Given the description of an element on the screen output the (x, y) to click on. 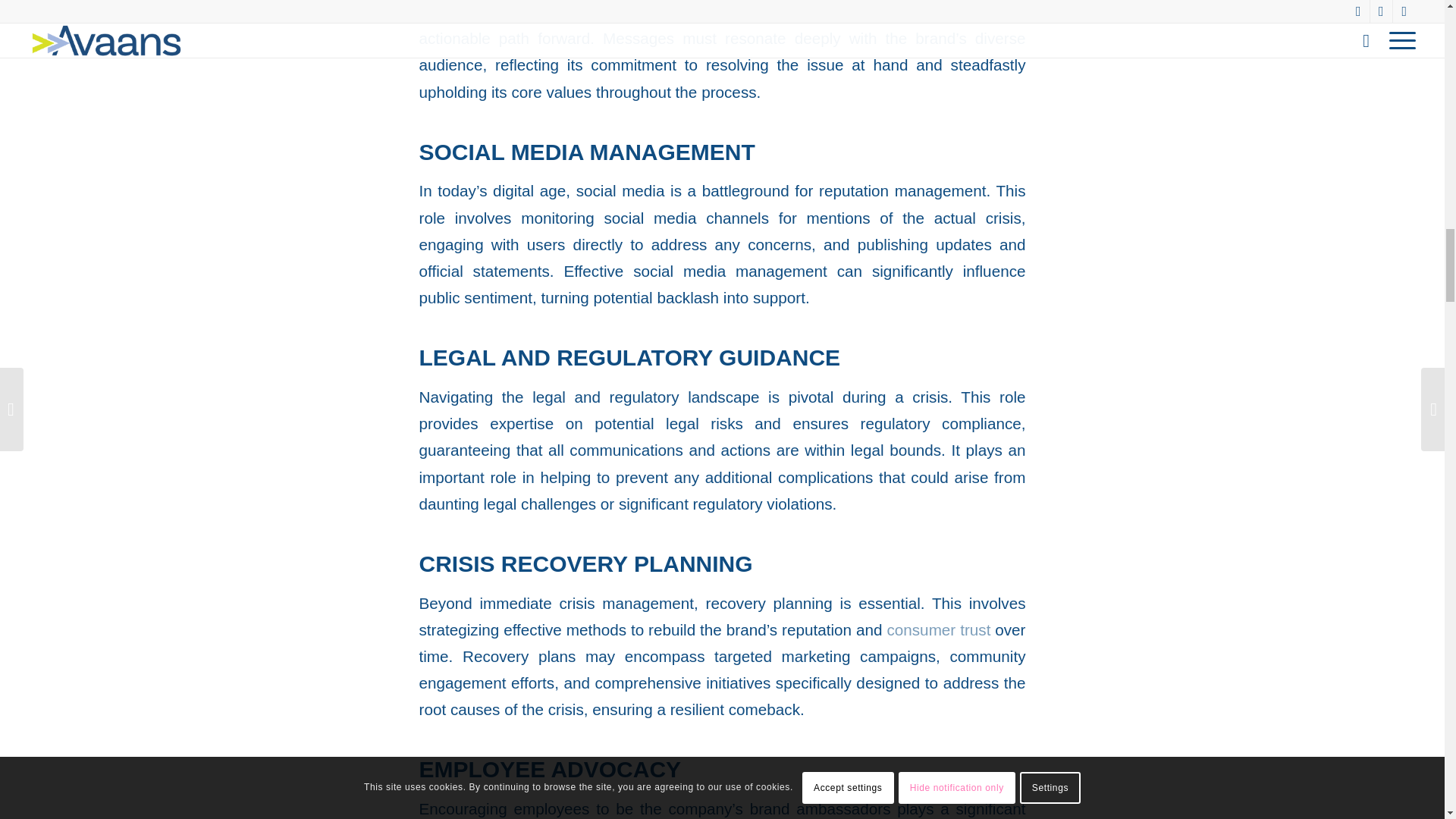
consumer trust (938, 629)
